Given the description of an element on the screen output the (x, y) to click on. 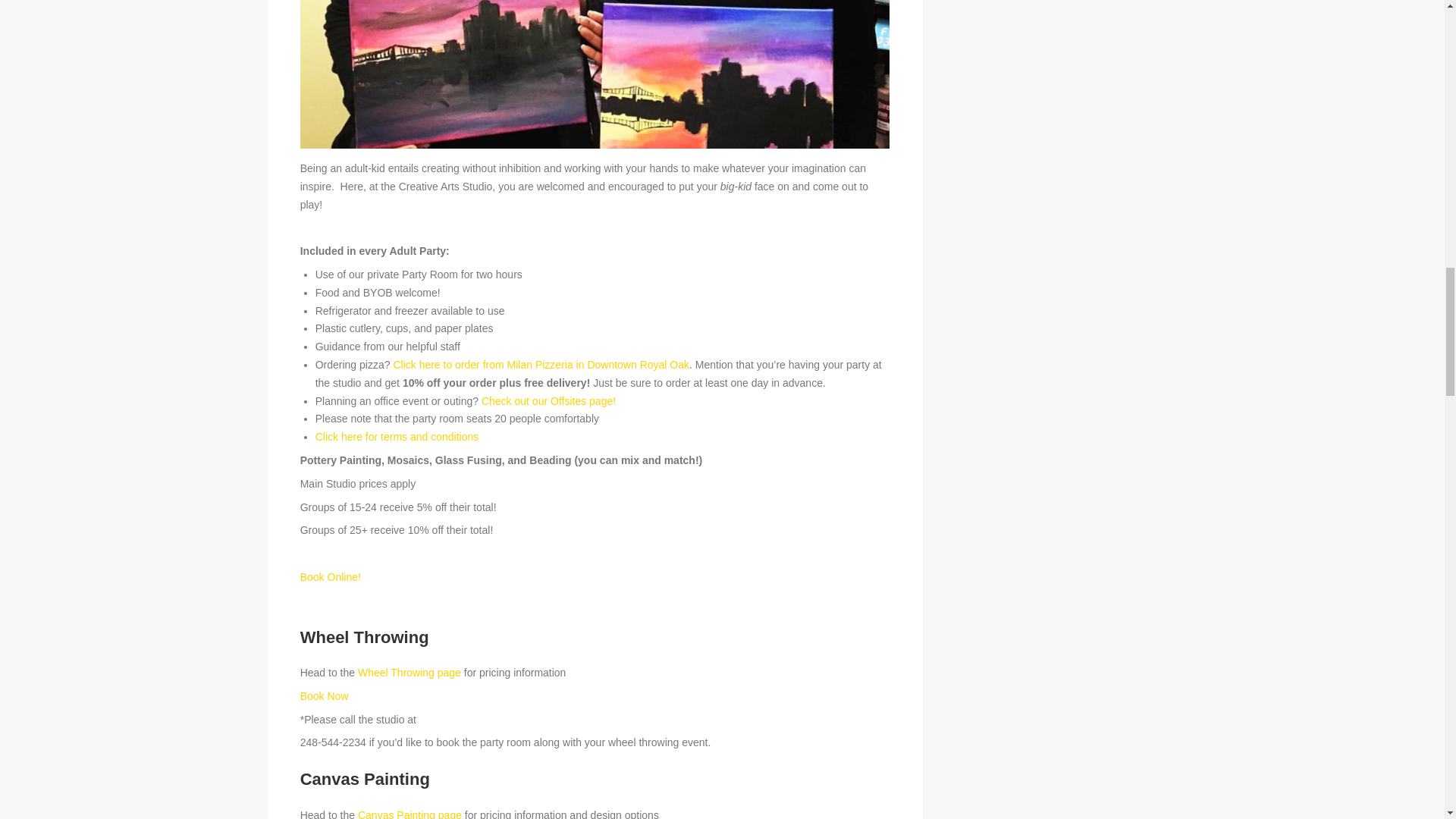
Book Now (324, 695)
Wheel Throwing page (409, 672)
Canvas Painting page (409, 813)
Check out our Offsites page! (548, 400)
Book Online! (330, 576)
Click here for terms and conditions (397, 436)
